Given the description of an element on the screen output the (x, y) to click on. 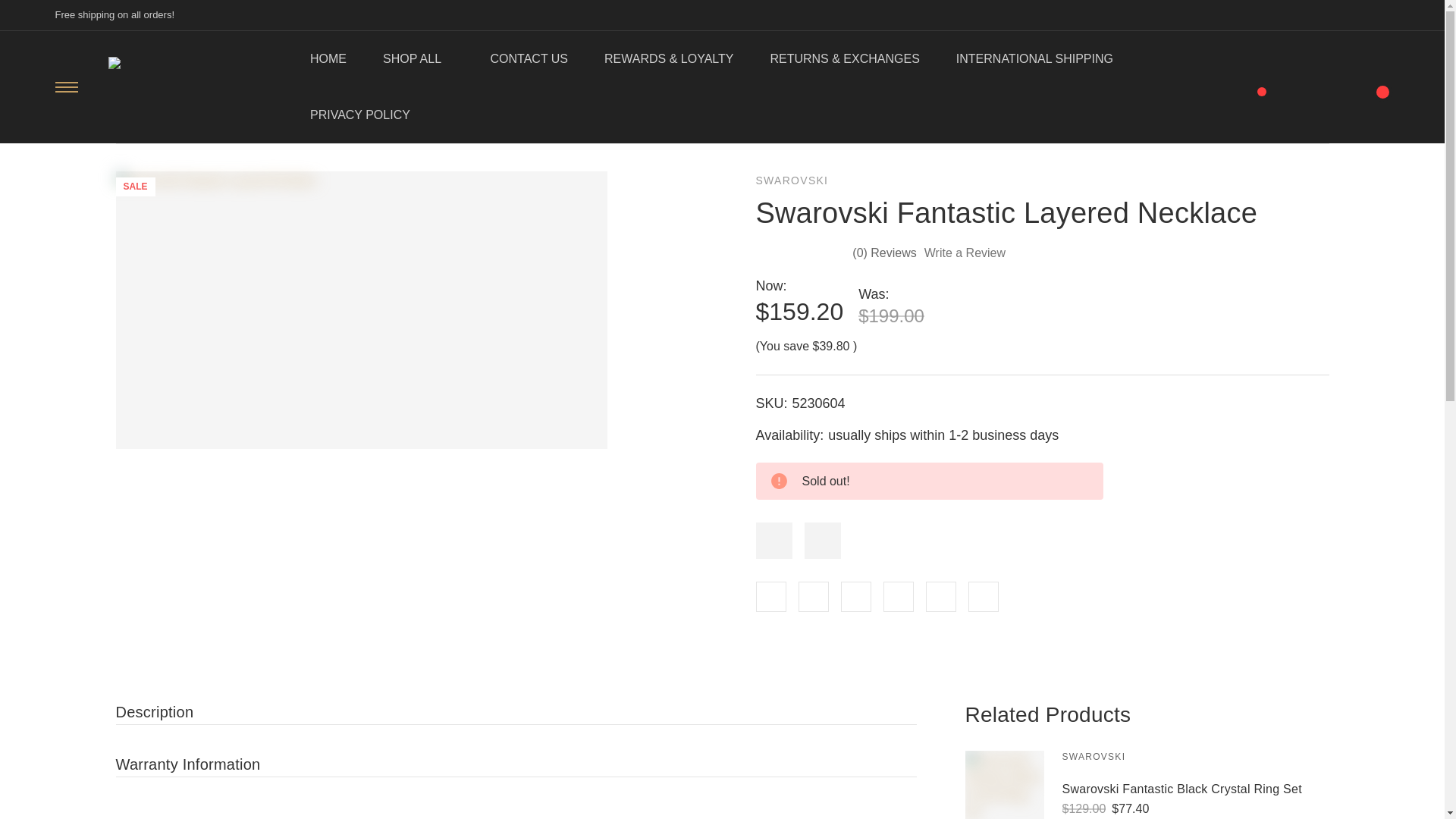
Linkedin (939, 596)
SHOP ALL (418, 58)
Email (812, 596)
Pinterest (982, 596)
Swarovski Fantastic Black Crystal Ring Set  (1003, 785)
Facebook (770, 596)
Twitter (897, 596)
Print (855, 596)
